Given the description of an element on the screen output the (x, y) to click on. 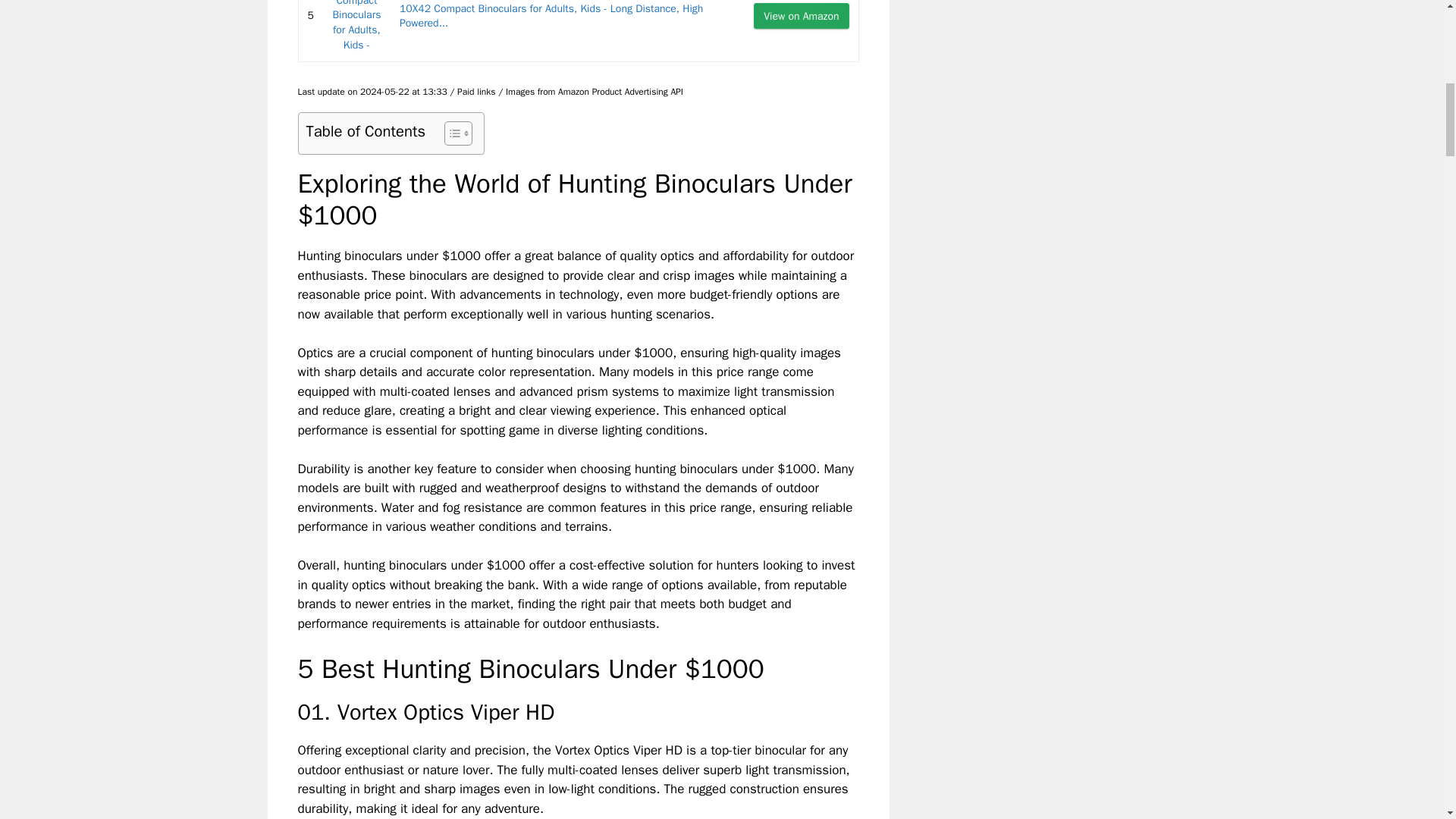
View on Amazon (801, 15)
